Given the description of an element on the screen output the (x, y) to click on. 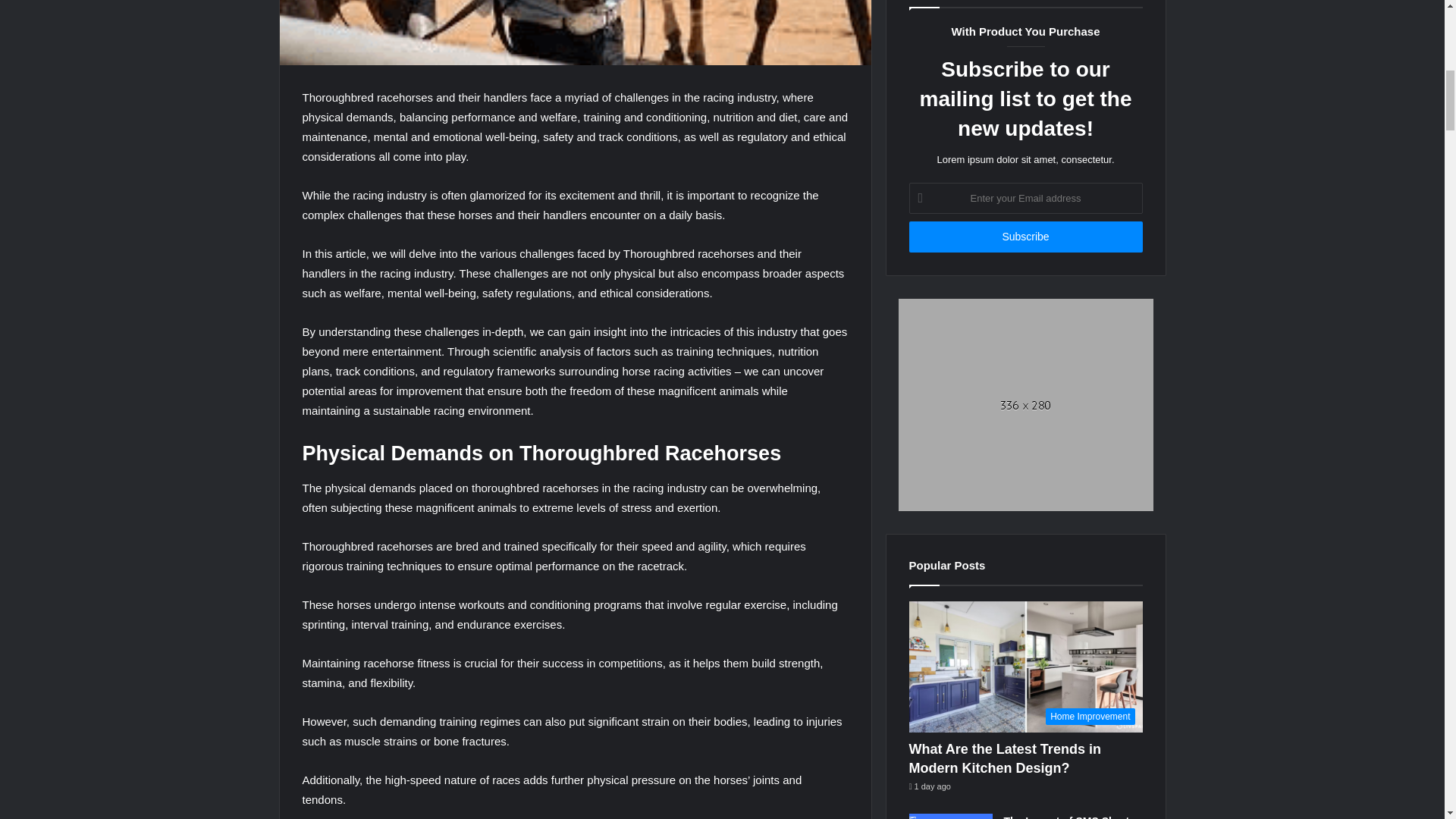
Subscribe (1025, 236)
